Given the description of an element on the screen output the (x, y) to click on. 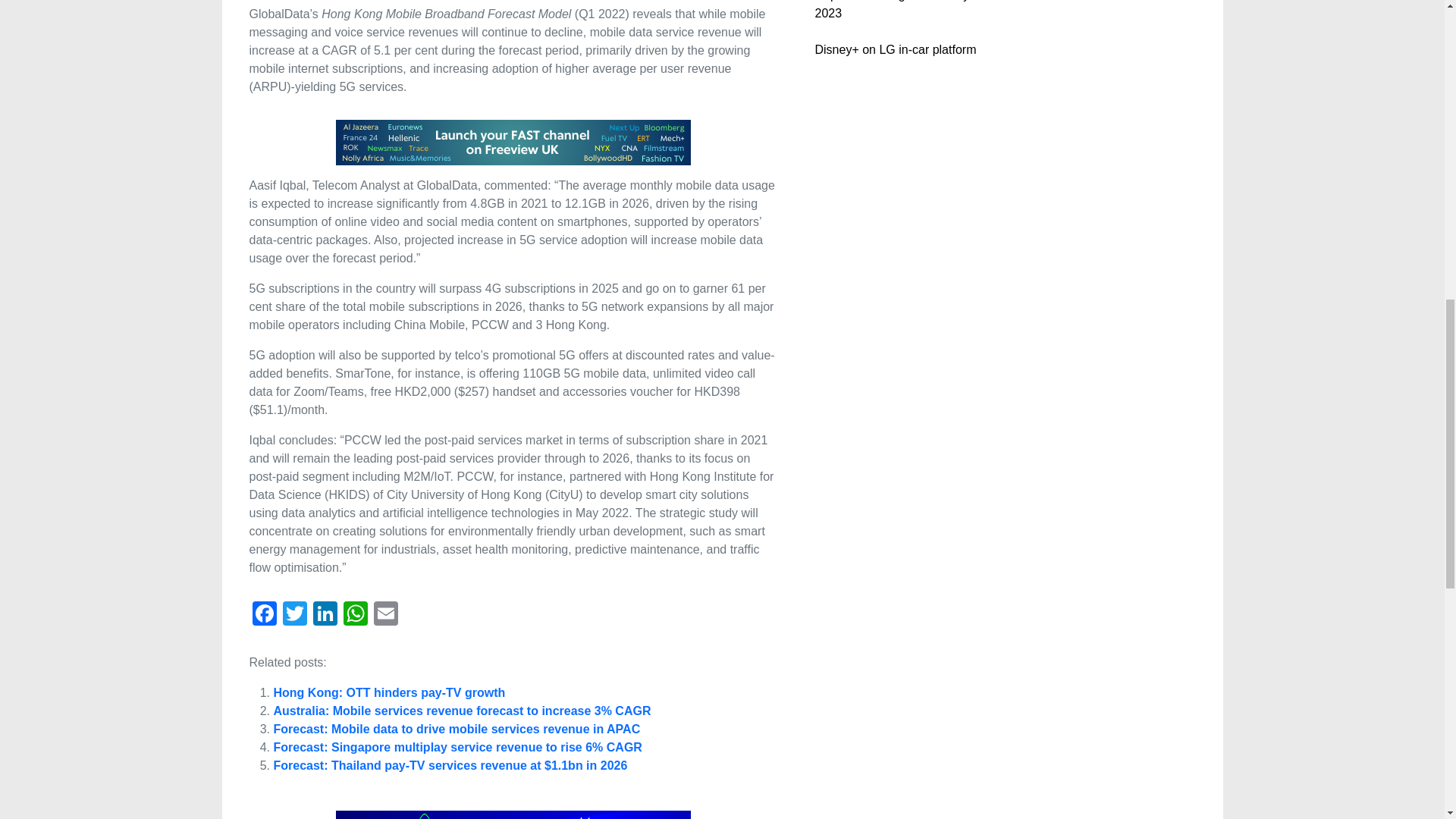
Email (384, 615)
Twitter (293, 615)
Hong Kong: OTT hinders pay-TV growth (389, 692)
Facebook (263, 615)
WhatsApp (354, 615)
Facebook (263, 615)
Email (384, 615)
LinkedIn (323, 615)
Twitter (293, 615)
WhatsApp (354, 615)
Hong Kong: OTT hinders pay-TV growth (389, 692)
LinkedIn (323, 615)
